Given the description of an element on the screen output the (x, y) to click on. 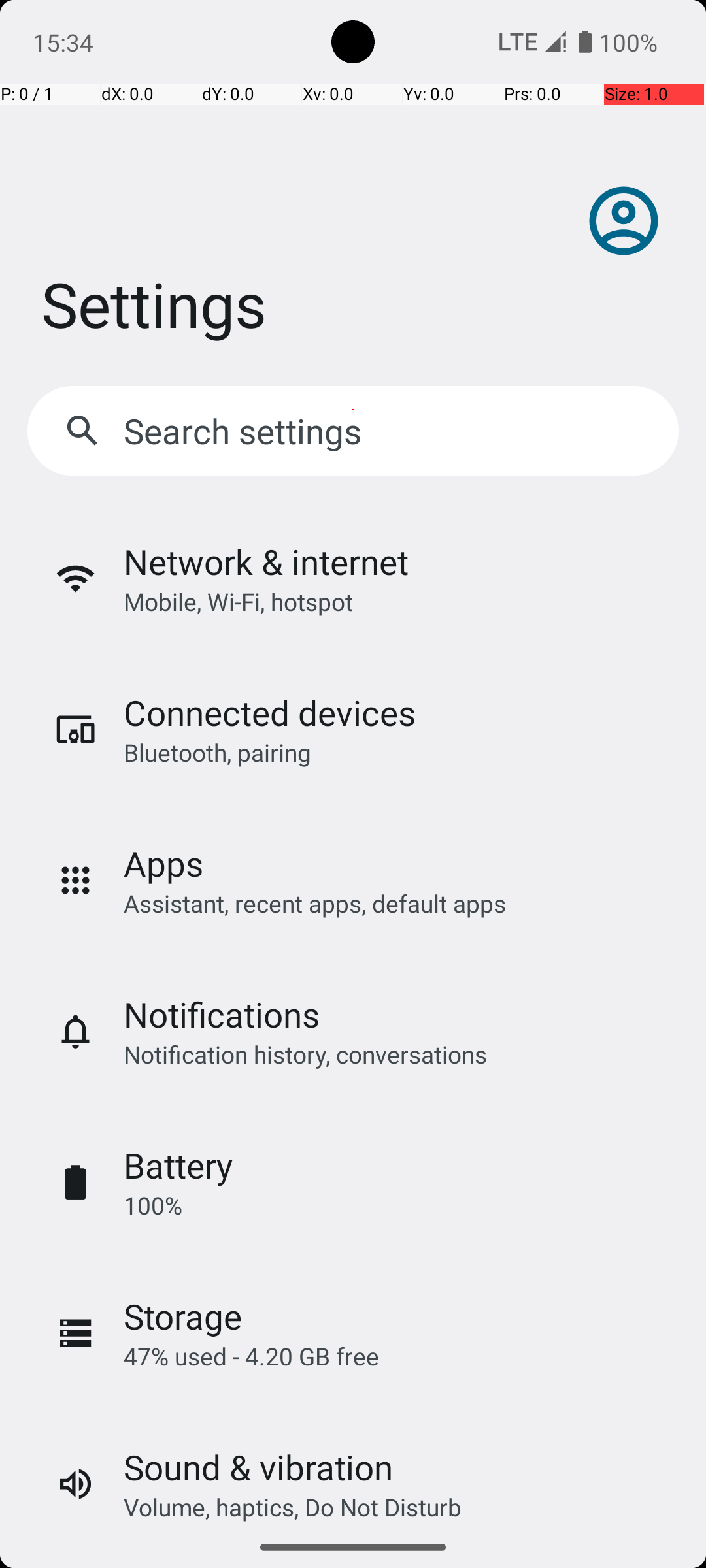
47% used - 4.20 GB free Element type: android.widget.TextView (251, 1355)
